Given the description of an element on the screen output the (x, y) to click on. 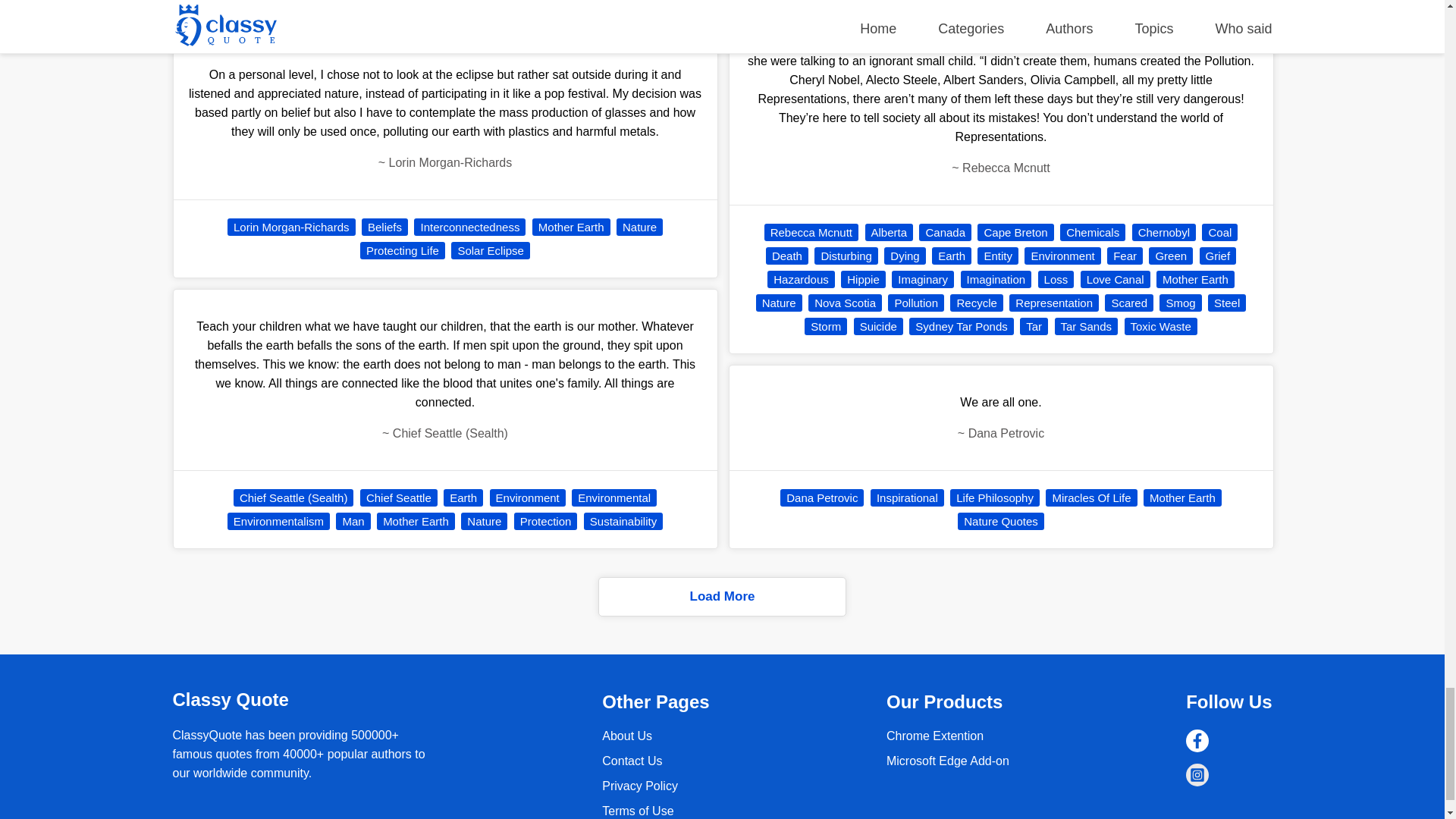
Chrome Extention (935, 735)
Chrome Extention (947, 760)
Facebook (1197, 740)
Instagram coming soon (1197, 774)
